Given the description of an element on the screen output the (x, y) to click on. 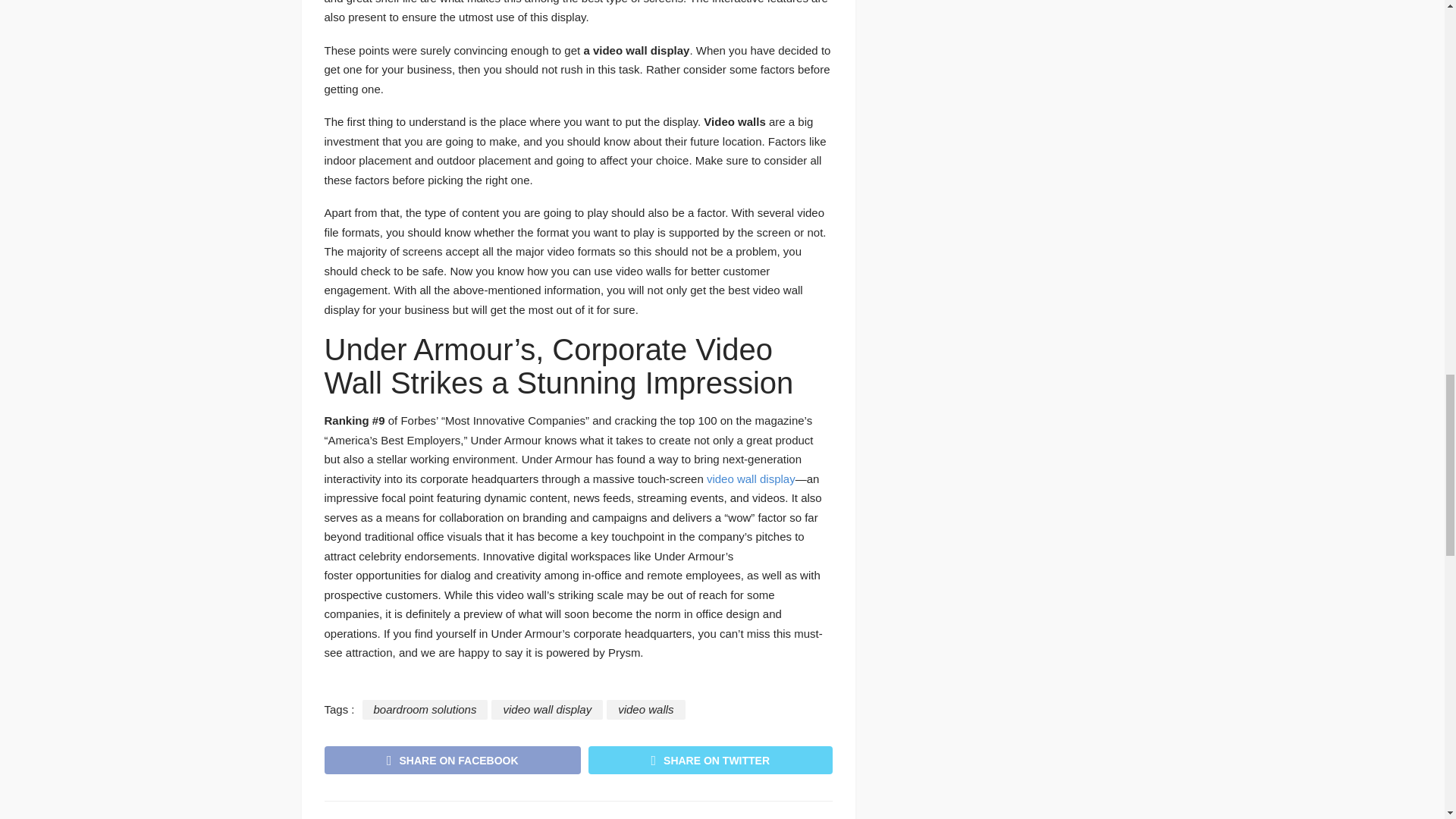
video wall display (547, 709)
video walls (645, 709)
boardroom solutions (424, 709)
